Given the description of an element on the screen output the (x, y) to click on. 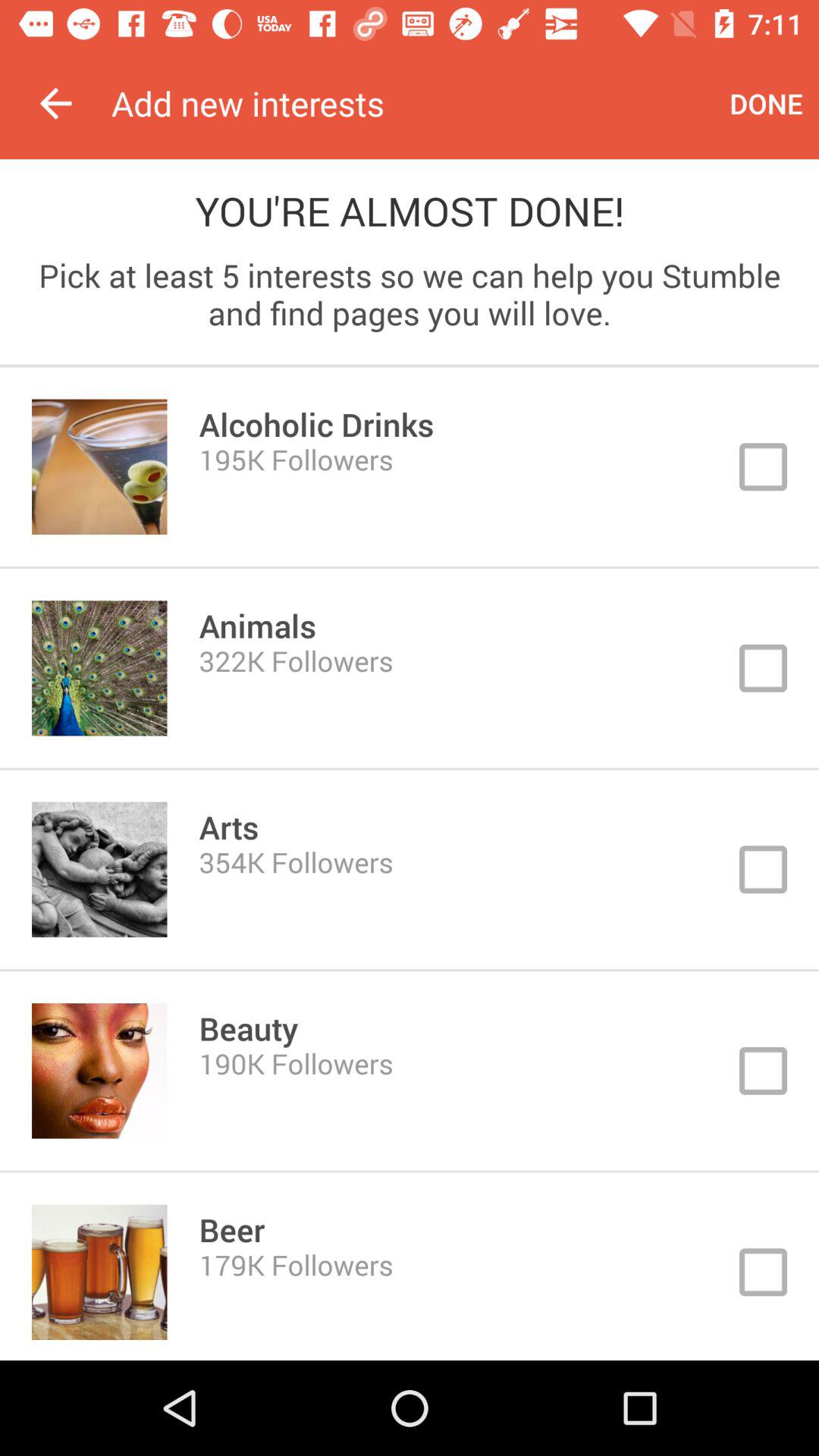
selects arts page as a page you like (409, 869)
